Given the description of an element on the screen output the (x, y) to click on. 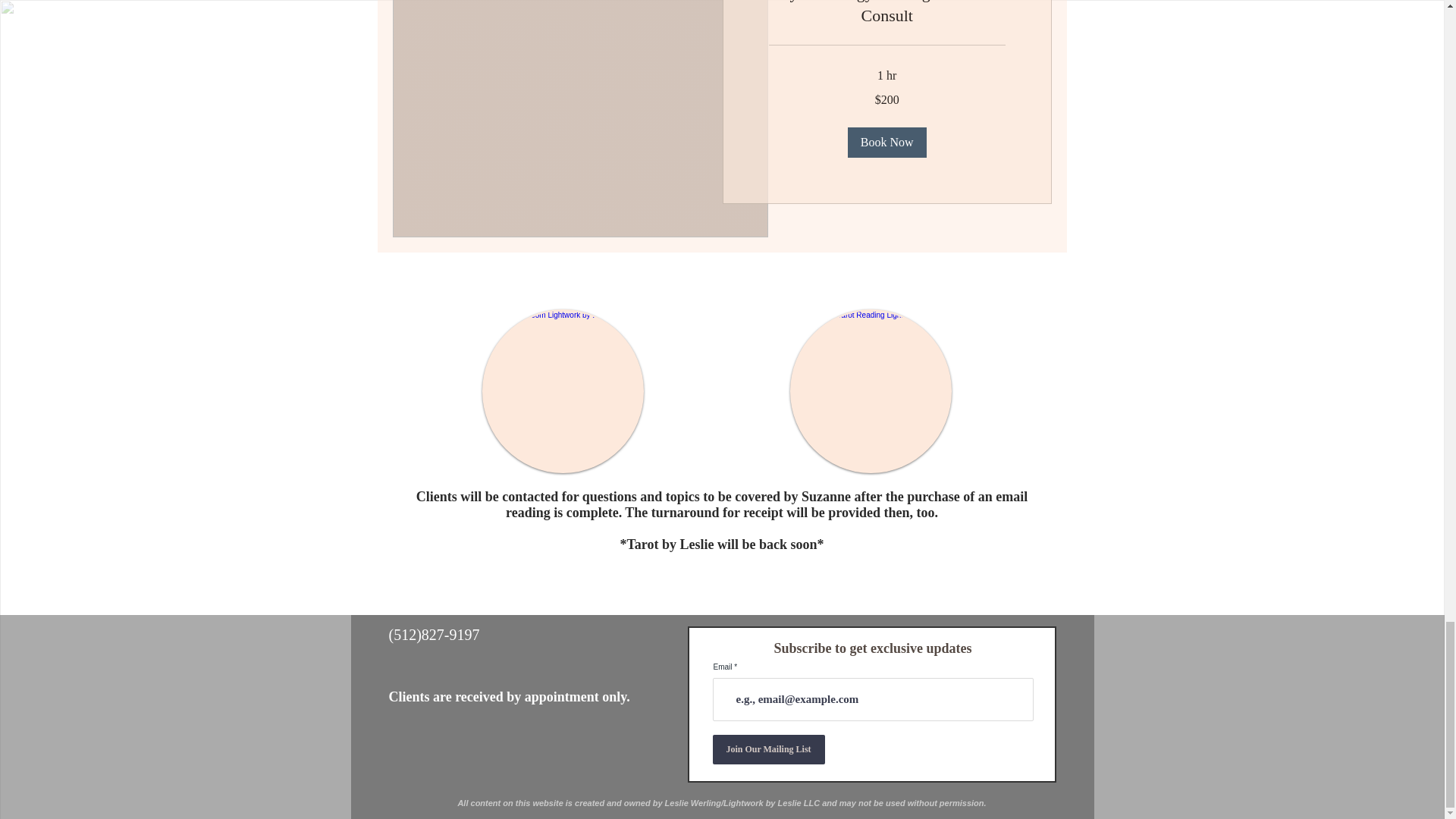
Book Now (886, 142)
Gift Certificate (562, 391)
Join Our Mailing List (769, 749)
Emailed Tarot Reading (871, 391)
